Given the description of an element on the screen output the (x, y) to click on. 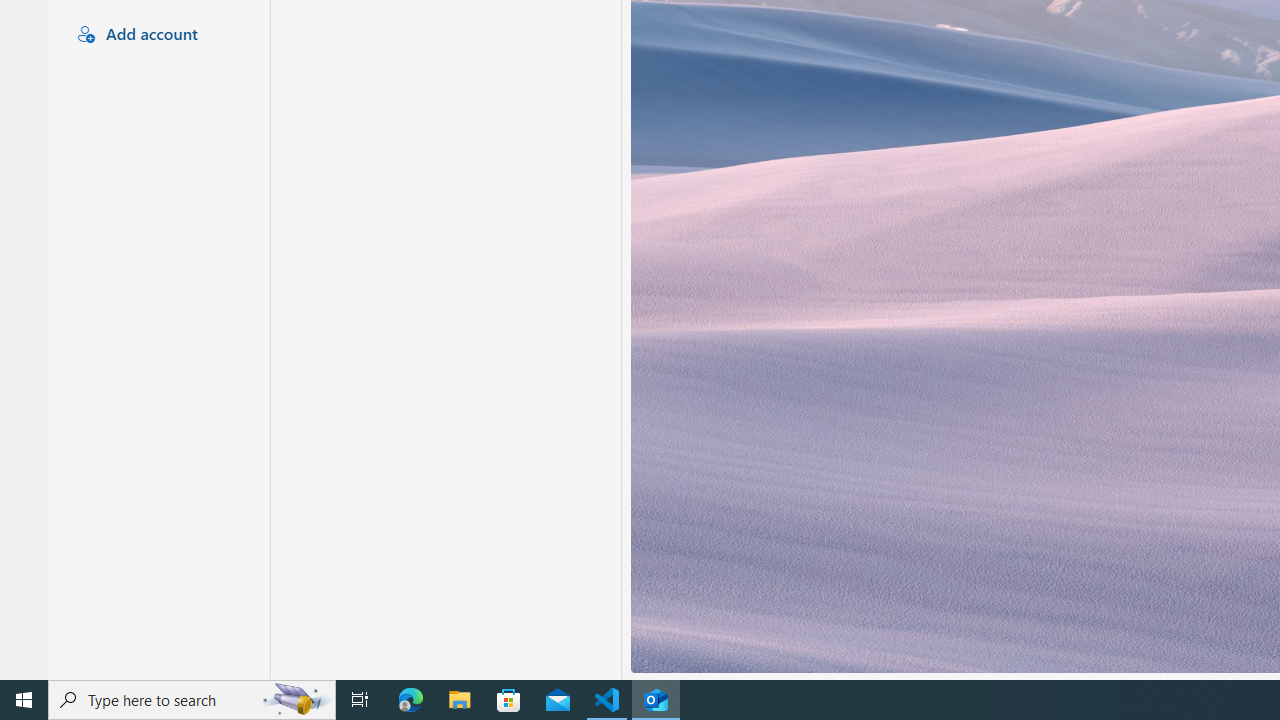
Add account (156, 35)
Outlook (new) - 1 running window (656, 699)
